Given the description of an element on the screen output the (x, y) to click on. 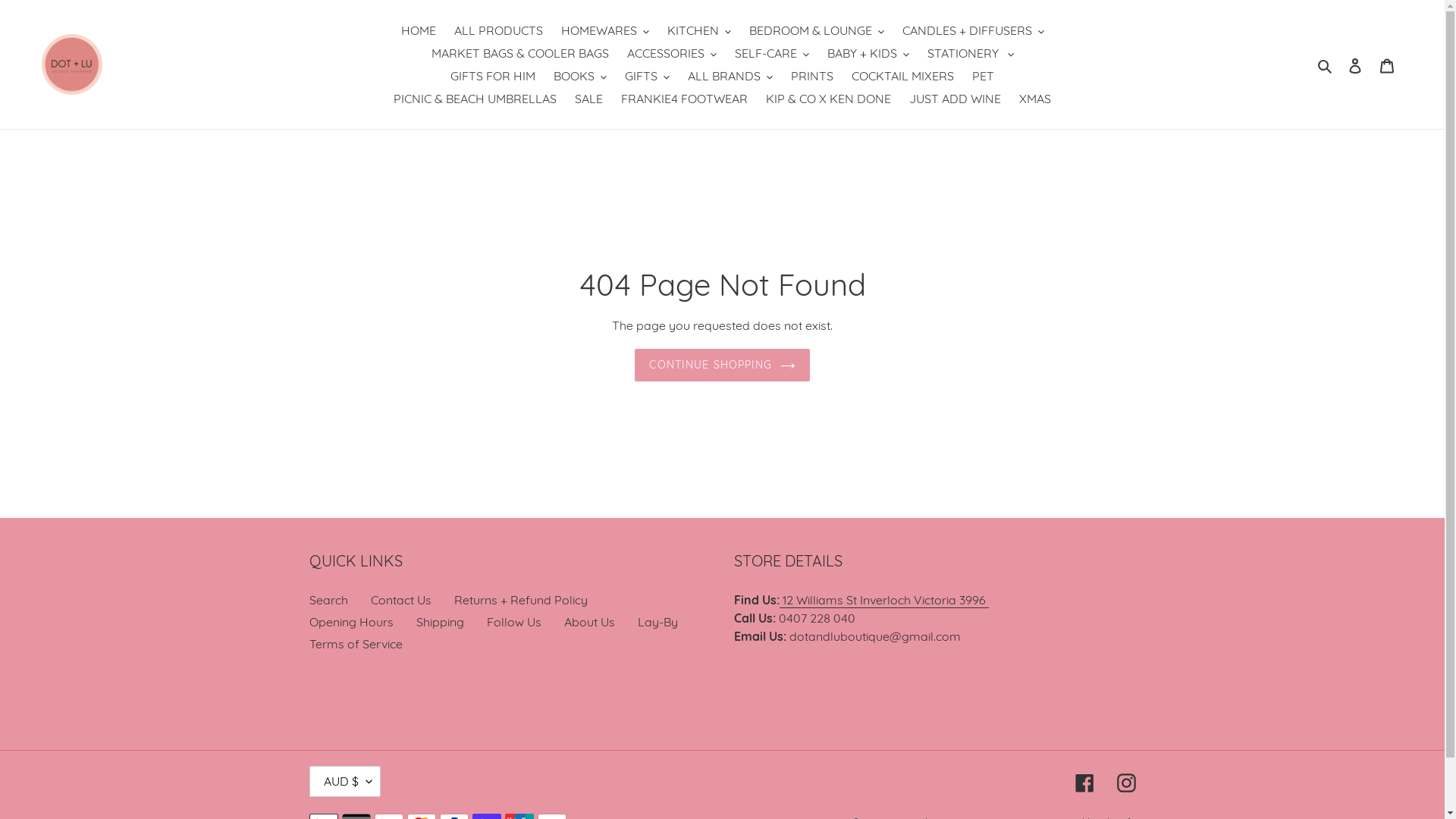
MARKET BAGS & COOLER BAGS Element type: text (519, 52)
JUST ADD WINE Element type: text (954, 98)
HOMEWARES Element type: text (604, 29)
Lay-By Element type: text (657, 621)
PRINTS Element type: text (811, 75)
ACCESSORIES Element type: text (670, 52)
SALE Element type: text (588, 98)
Search Element type: text (1325, 64)
Search Element type: text (328, 599)
Returns + Refund Policy Element type: text (519, 599)
Instagram Element type: text (1125, 781)
AUD $ Element type: text (344, 781)
HOME Element type: text (417, 29)
ALL PRODUCTS Element type: text (497, 29)
 12 Williams St Inverloch Victoria 3996  Element type: text (883, 600)
BEDROOM & LOUNGE Element type: text (816, 29)
SELF-CARE Element type: text (770, 52)
Shipping Element type: text (439, 621)
XMAS Element type: text (1034, 98)
STATIONERY Element type: text (969, 52)
CONTINUE SHOPPING Element type: text (721, 364)
Opening Hours Element type: text (351, 621)
BOOKS Element type: text (580, 75)
Facebook Element type: text (1084, 781)
GIFTS Element type: text (647, 75)
KITCHEN Element type: text (698, 29)
COCKTAIL MIXERS Element type: text (902, 75)
ALL BRANDS Element type: text (730, 75)
Contact Us Element type: text (400, 599)
Terms of Service Element type: text (355, 643)
KIP & CO X KEN DONE Element type: text (828, 98)
PICNIC & BEACH UMBRELLAS Element type: text (474, 98)
Follow Us Element type: text (513, 621)
PET Element type: text (982, 75)
CANDLES + DIFFUSERS Element type: text (972, 29)
Cart Element type: text (1386, 64)
BABY + KIDS Element type: text (867, 52)
FRANKIE4 FOOTWEAR Element type: text (684, 98)
GIFTS FOR HIM Element type: text (492, 75)
About Us Element type: text (589, 621)
Log in Element type: text (1355, 64)
